Given the description of an element on the screen output the (x, y) to click on. 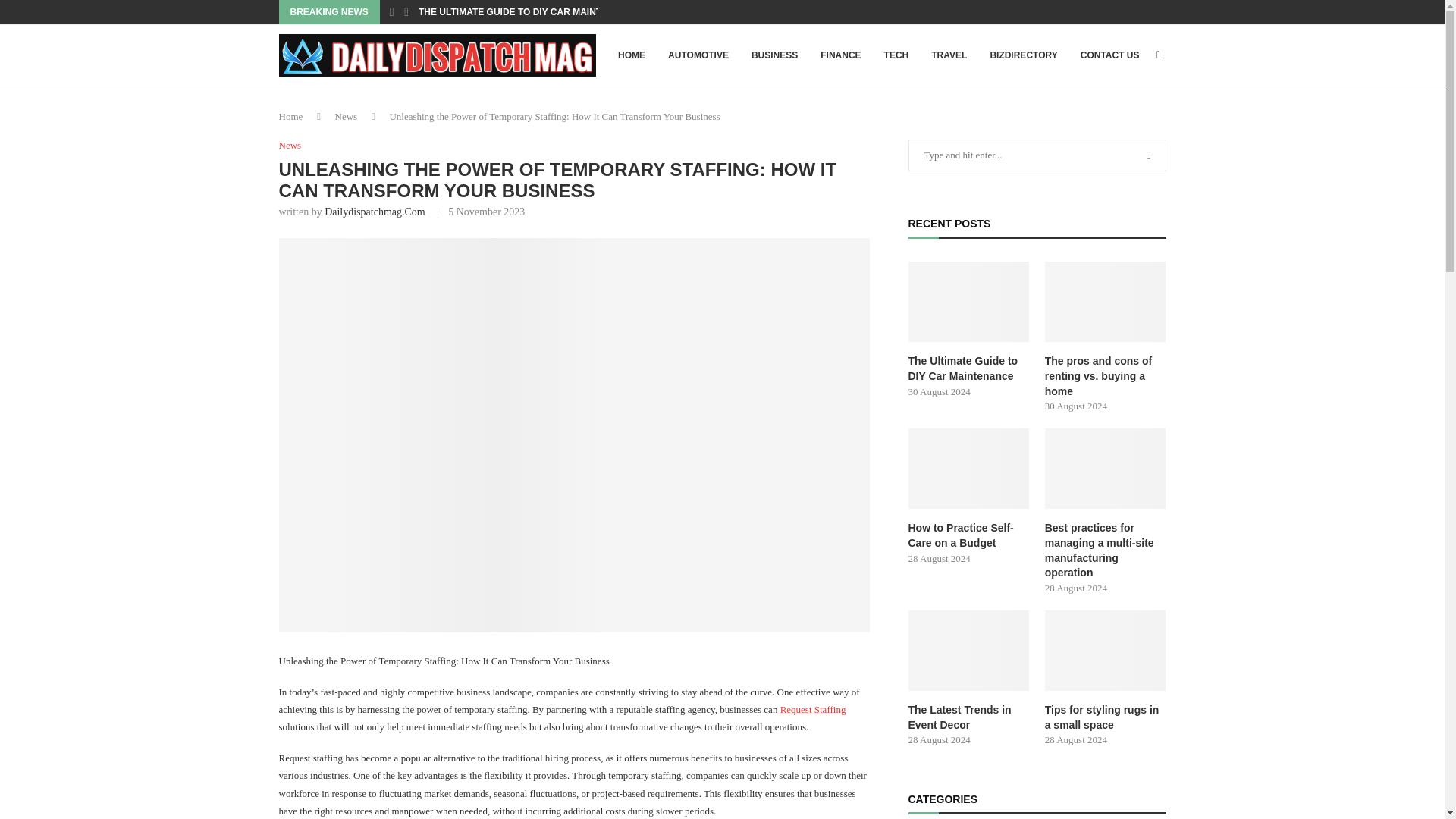
The Ultimate Guide to DIY Car Maintenance (968, 302)
Request Staffing (812, 708)
CONTACT US (1110, 55)
News (290, 145)
BIZDIRECTORY (1023, 55)
News (346, 116)
THE ULTIMATE GUIDE TO DIY CAR MAINTENANCE (529, 12)
The Ultimate Guide to DIY Car Maintenance (968, 368)
Dailydispatchmag.Com (374, 211)
